Given the description of an element on the screen output the (x, y) to click on. 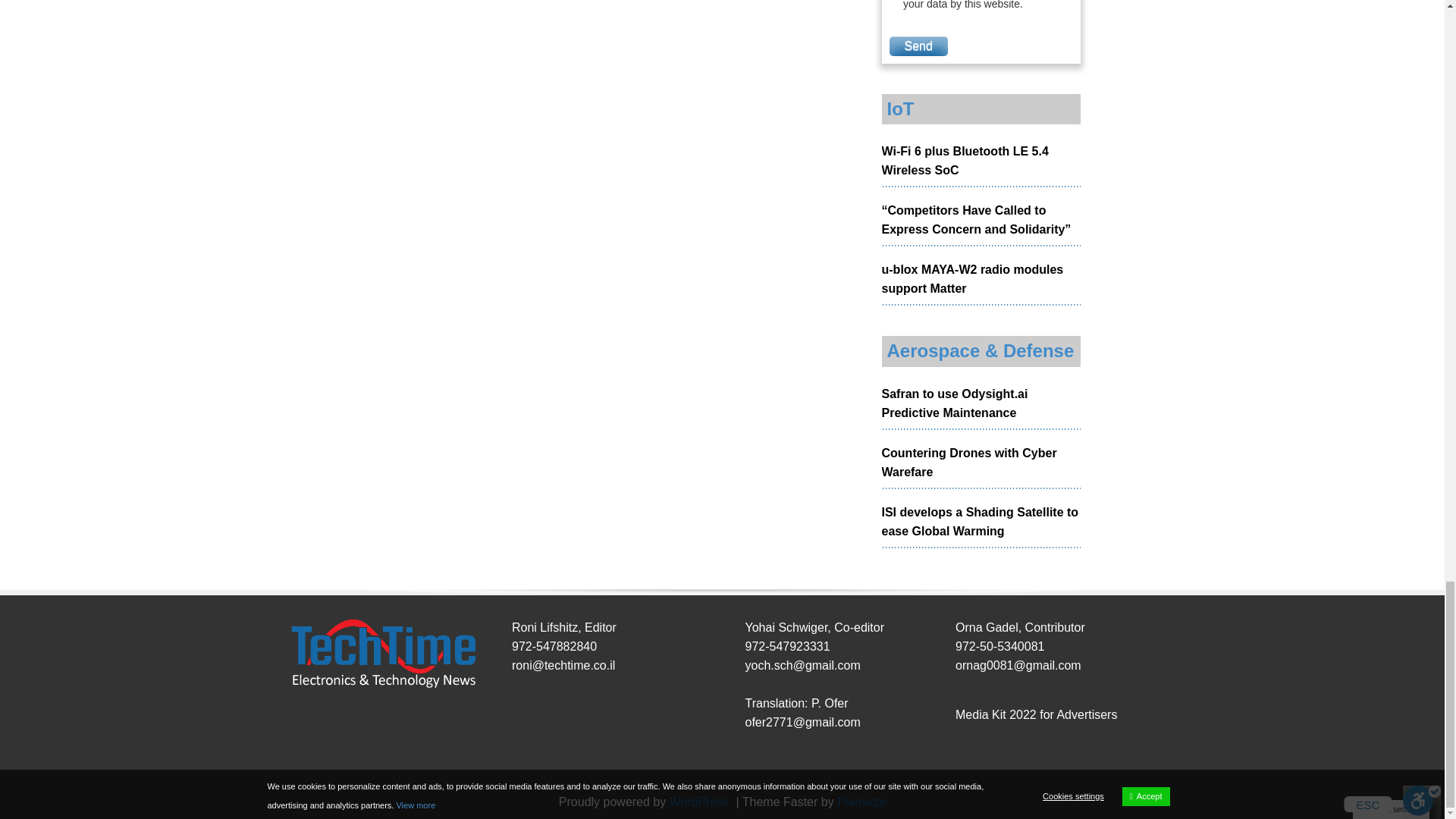
Send (917, 46)
Techtime Logo (382, 654)
SuperPlugin (861, 801)
Wordpress (700, 801)
